Given the description of an element on the screen output the (x, y) to click on. 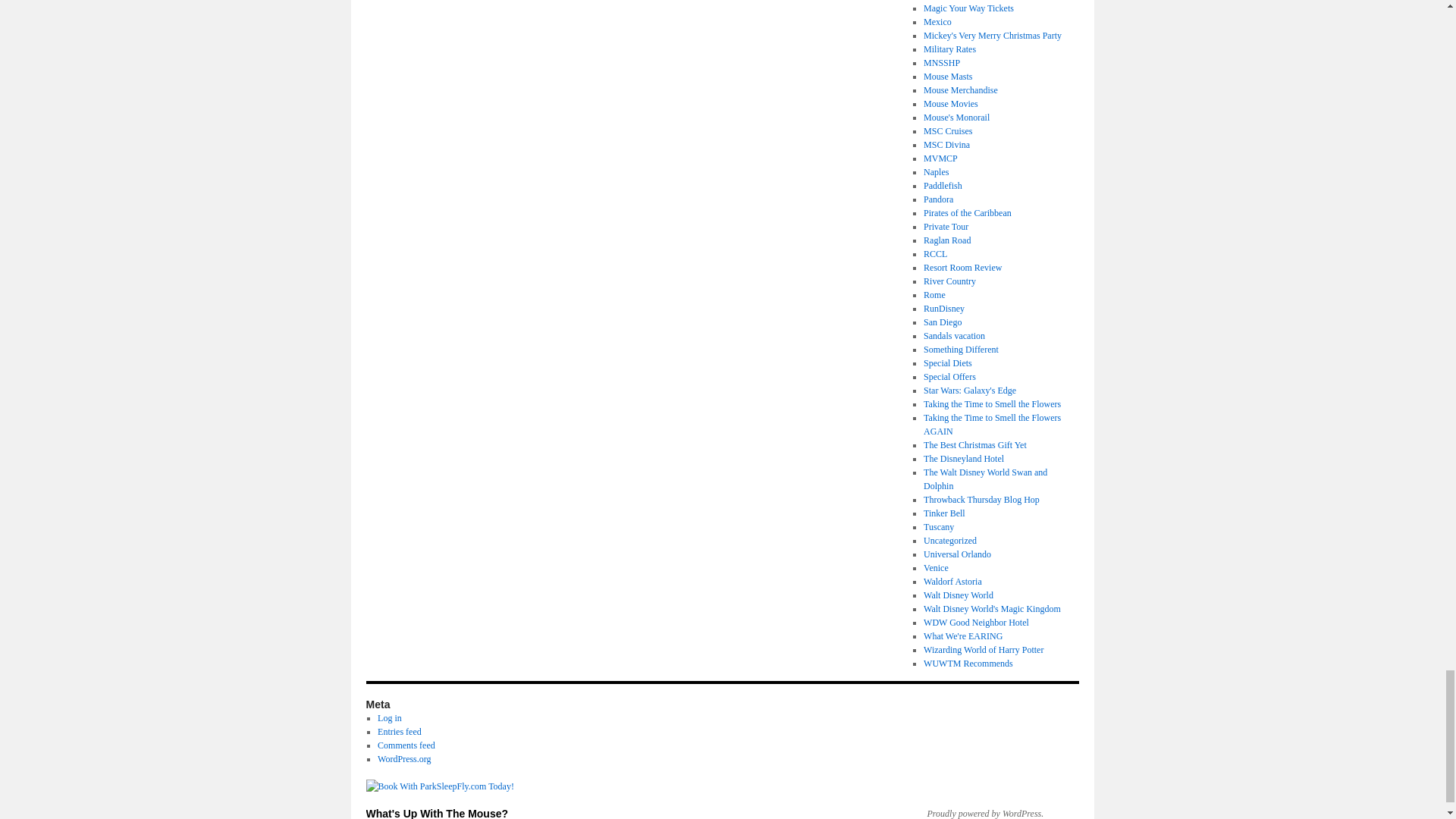
Book With ParkSleepFly.com Today! (439, 786)
